Given the description of an element on the screen output the (x, y) to click on. 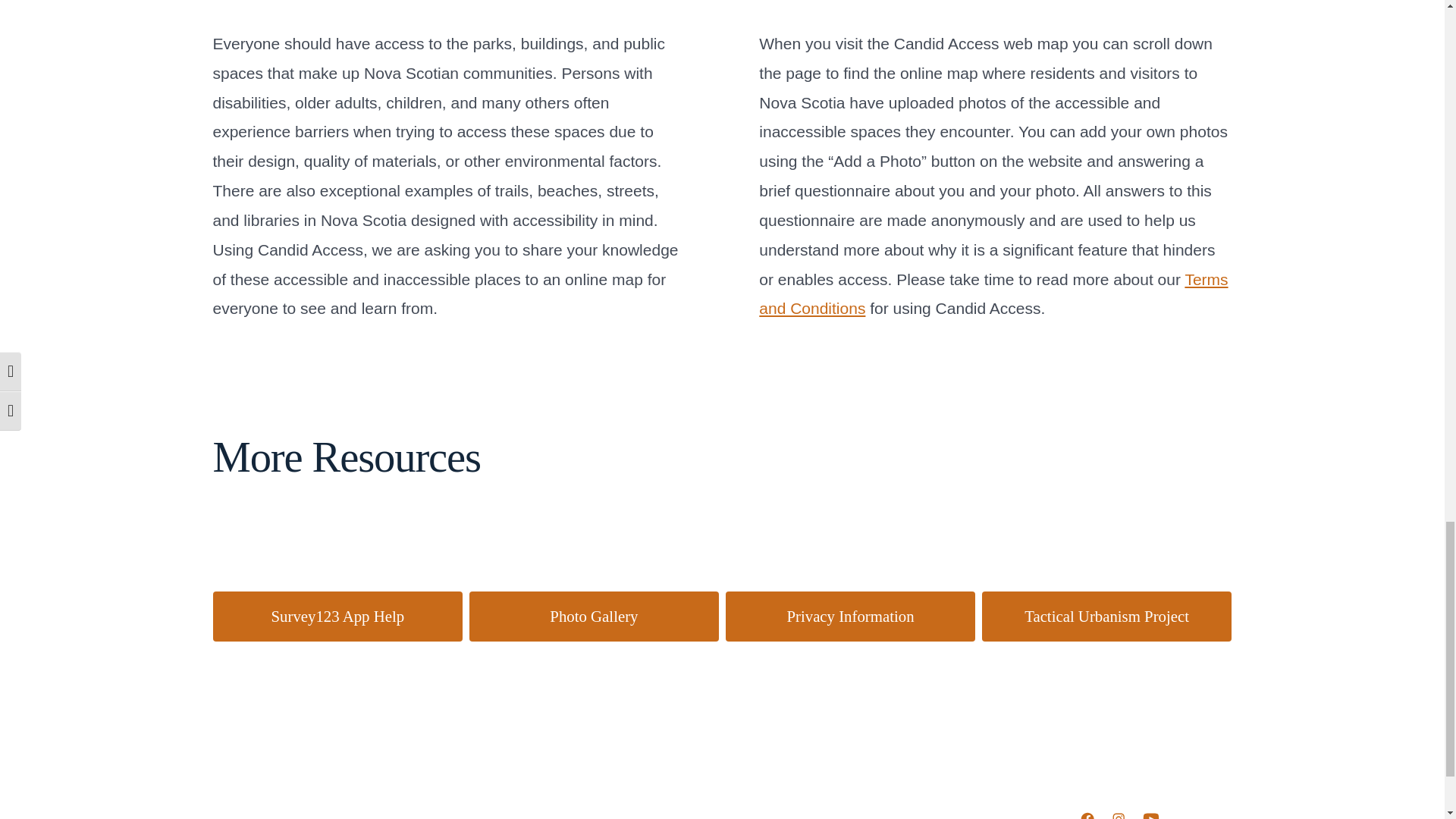
Terms and Conditions (992, 294)
Survey123 App Help (337, 616)
Tactical Urbanism Project (1106, 616)
Photo Gallery (593, 616)
Open YouTube in a new tab (1150, 812)
Open Instagram in a new tab (1118, 812)
Open Facebook in a new tab (1087, 812)
Privacy Information (850, 616)
